Given the description of an element on the screen output the (x, y) to click on. 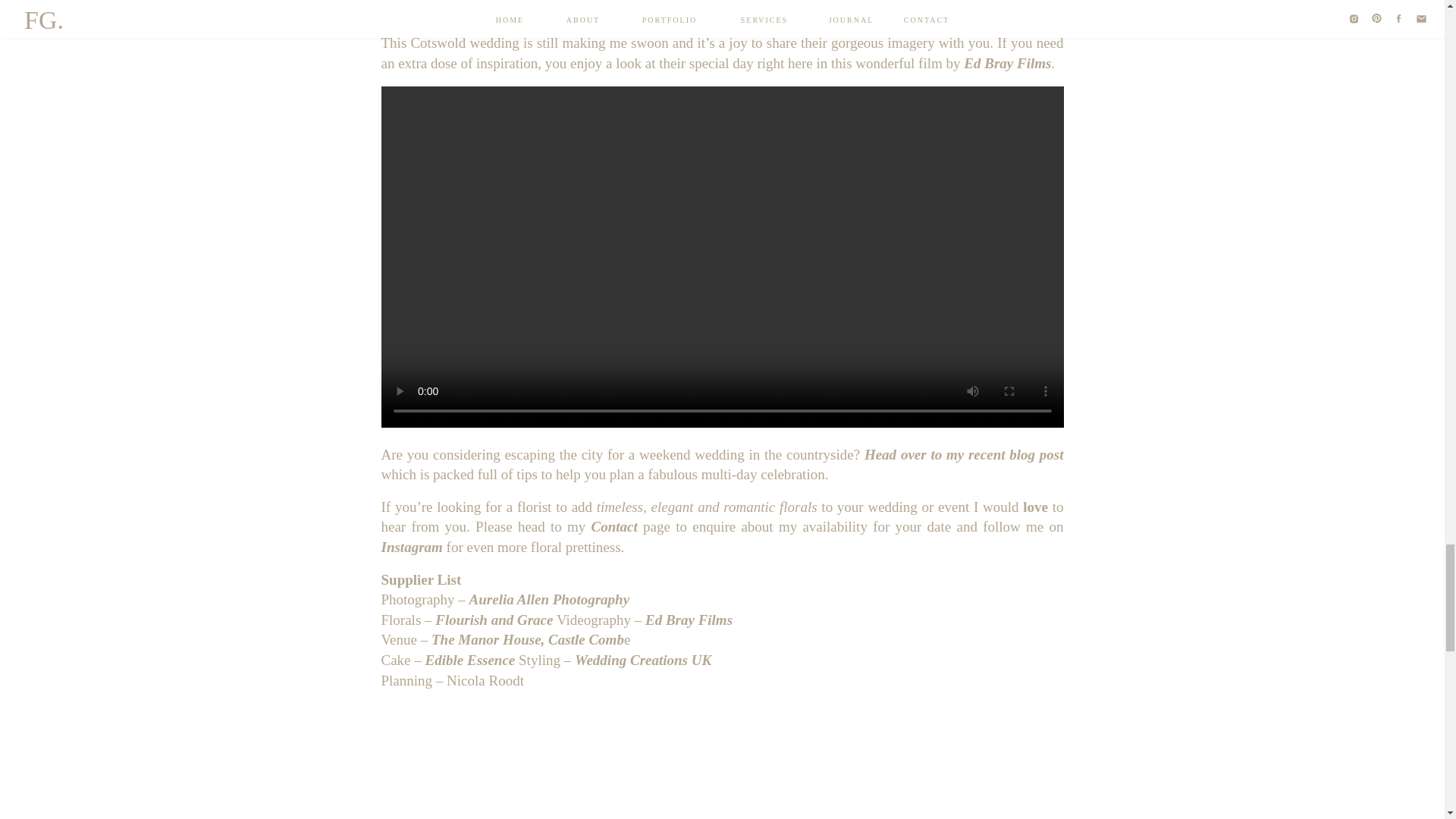
Contact (614, 526)
Edible Essence (470, 659)
Instagram (411, 546)
Head over to my recent blog post (961, 454)
Flourish and Grace (494, 619)
Wedding Creations UK (643, 659)
Ed Bray Films (1007, 63)
Ed Bray Films (687, 619)
The Manor House, Castle Combe (530, 639)
Aurelia Allen Photography (549, 599)
